Given the description of an element on the screen output the (x, y) to click on. 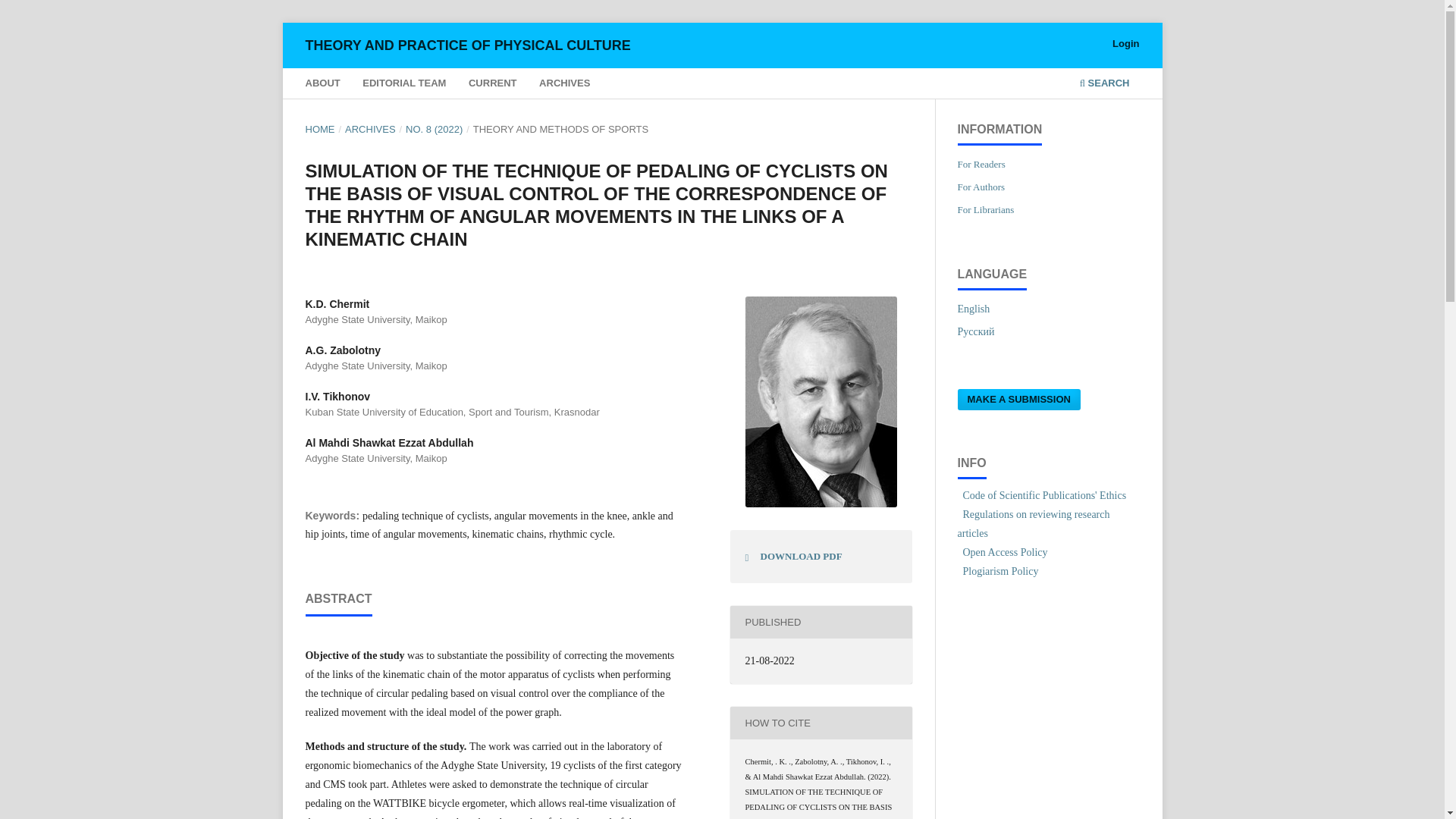
Login (1126, 43)
EDITORIAL TEAM (404, 85)
ABOUT (322, 85)
DOWNLOAD PDF (794, 556)
HOME (319, 129)
THEORY AND PRACTICE OF PHYSICAL CULTURE (467, 45)
ARCHIVES (564, 85)
SEARCH (1104, 85)
ARCHIVES (370, 129)
CURRENT (492, 85)
